Given the description of an element on the screen output the (x, y) to click on. 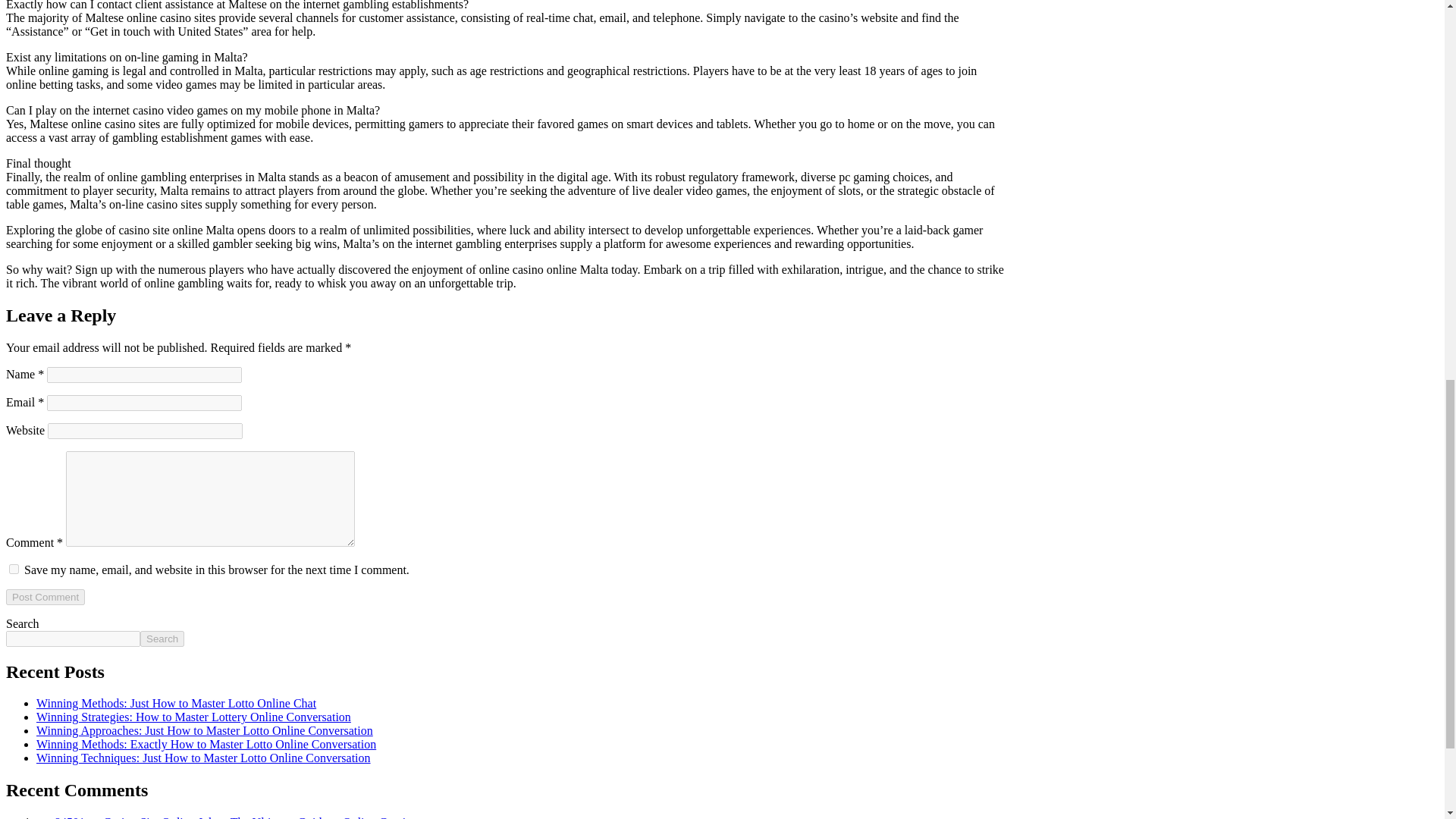
Post Comment (44, 596)
Post Comment (44, 596)
yes (13, 569)
Search (161, 638)
oop84501 (60, 817)
